Given the description of an element on the screen output the (x, y) to click on. 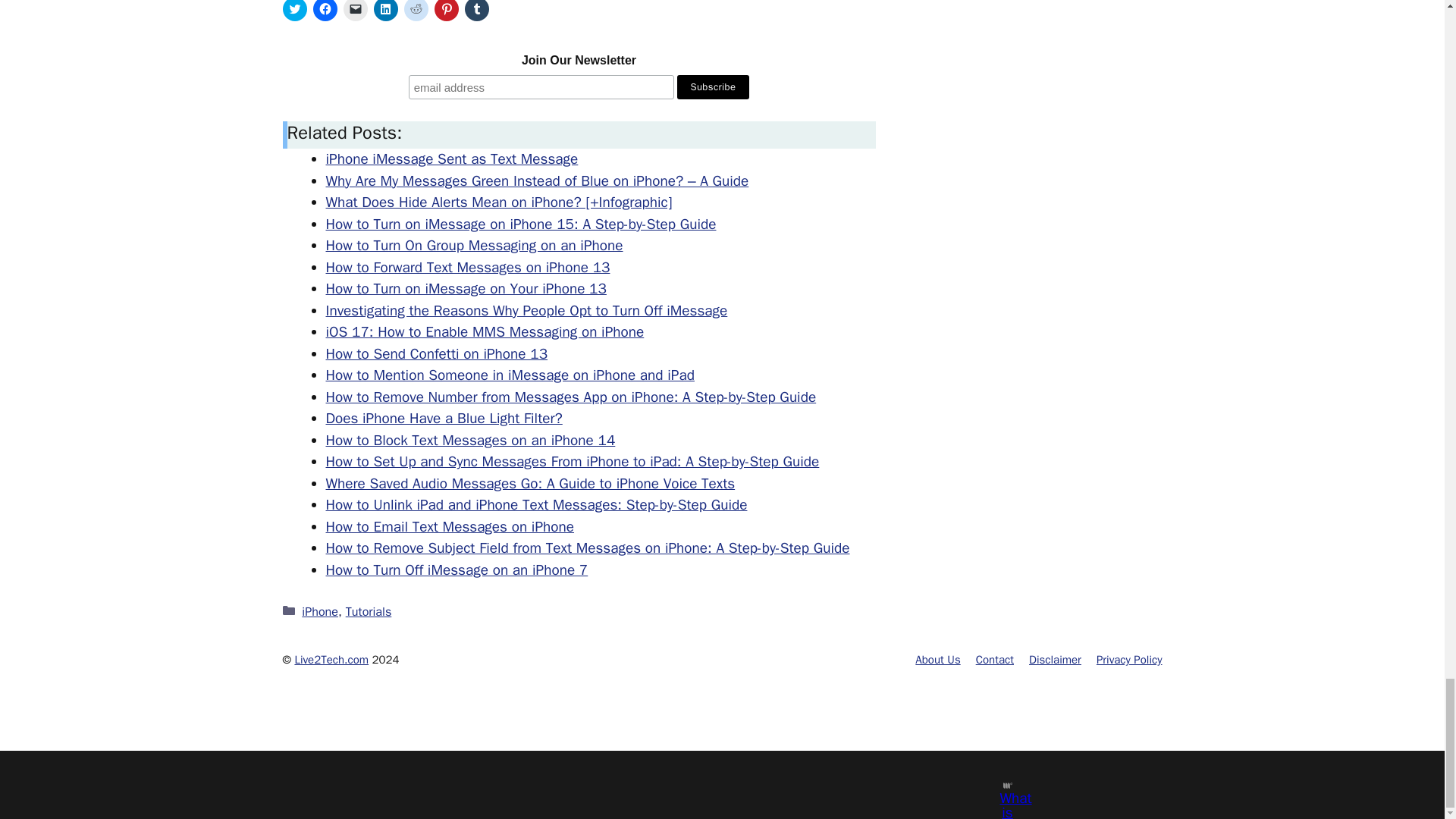
How to Turn On Group Messaging on an iPhone (474, 245)
Subscribe (713, 87)
Does iPhone Have a Blue Light Filter? (444, 418)
Where Saved Audio Messages Go: A Guide to iPhone Voice Texts (530, 484)
How to Mention Someone in iMessage on iPhone and iPad (510, 375)
iPhone iMessage Sent as Text Message (452, 158)
How to Turn on iMessage on iPhone 15: A Step-by-Step Guide (521, 224)
Subscribe (713, 87)
iOS 17: How to Enable MMS Messaging on iPhone (485, 331)
How to Turn on iMessage on Your iPhone 13 (466, 289)
How to Send Confetti on iPhone 13 (437, 353)
How to Turn Off iMessage on an iPhone 7 (457, 570)
